Given the description of an element on the screen output the (x, y) to click on. 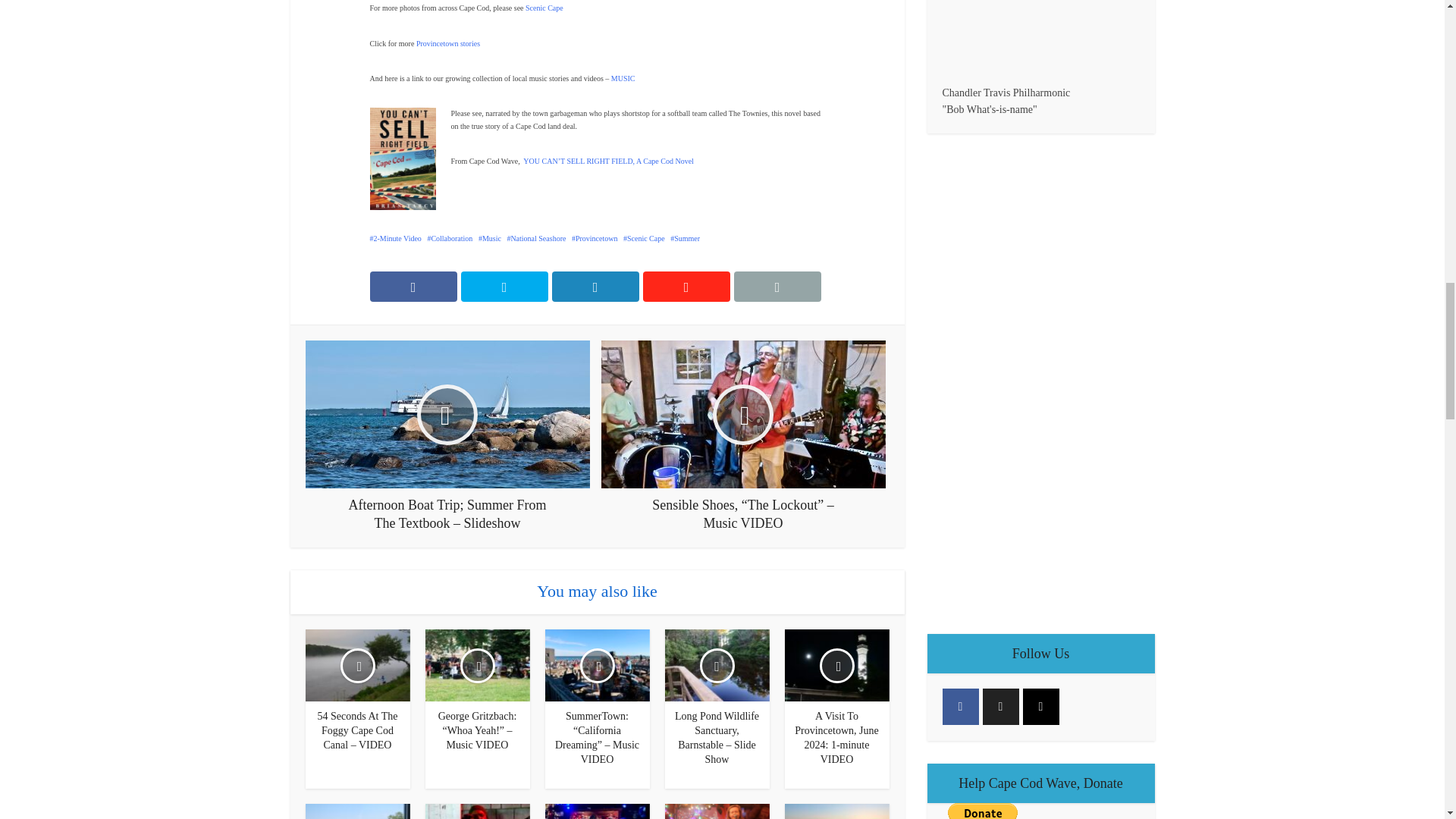
MUSIC (622, 78)
Scenic Cape (544, 8)
Provincetown stories (448, 43)
